Given the description of an element on the screen output the (x, y) to click on. 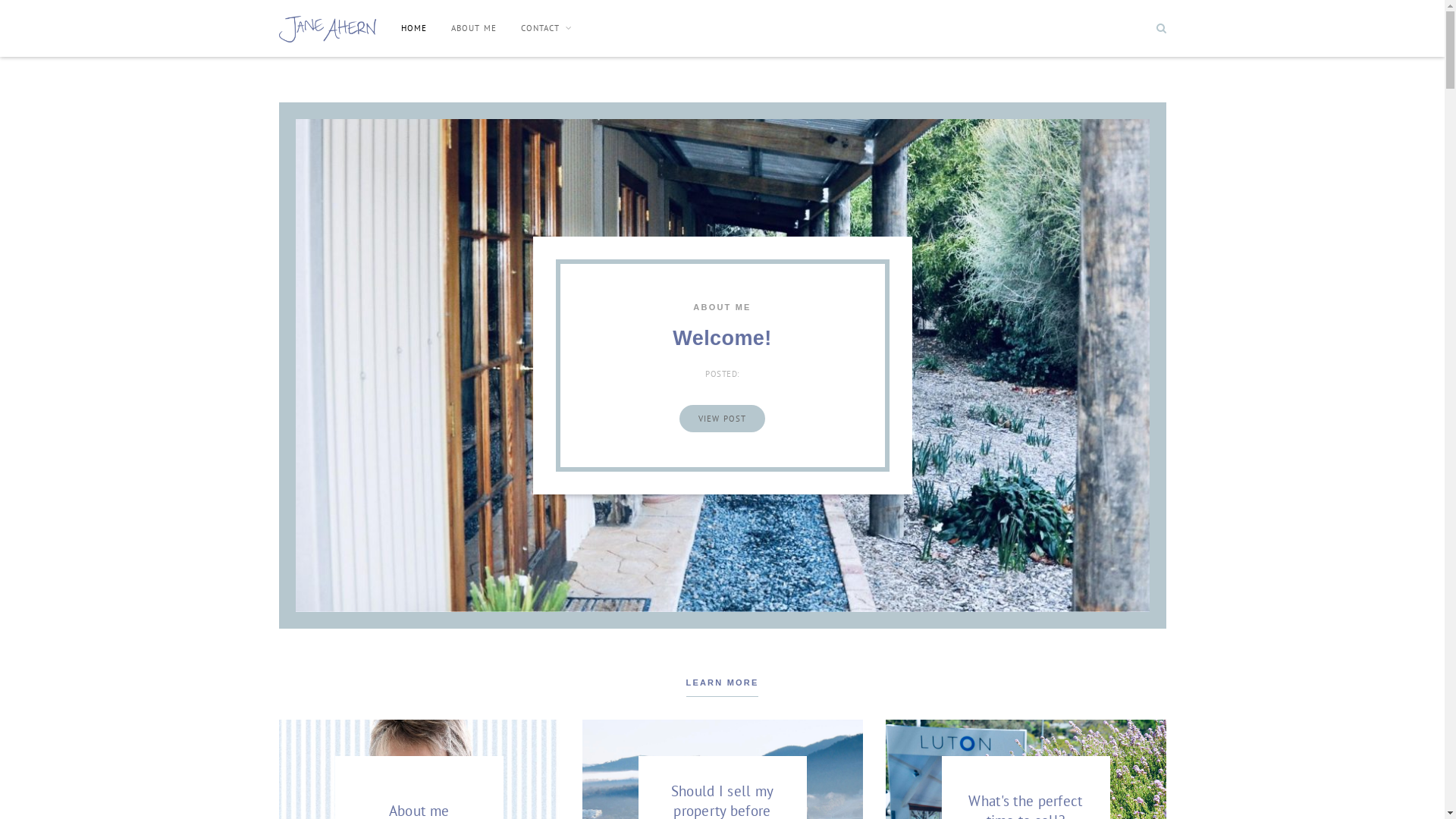
ABOUT ME Element type: text (721, 306)
Welcome! Element type: text (721, 337)
VIEW POST Element type: text (722, 418)
CONTACT Element type: text (546, 28)
HOME Element type: text (413, 28)
ABOUT ME Element type: text (473, 28)
